Given the description of an element on the screen output the (x, y) to click on. 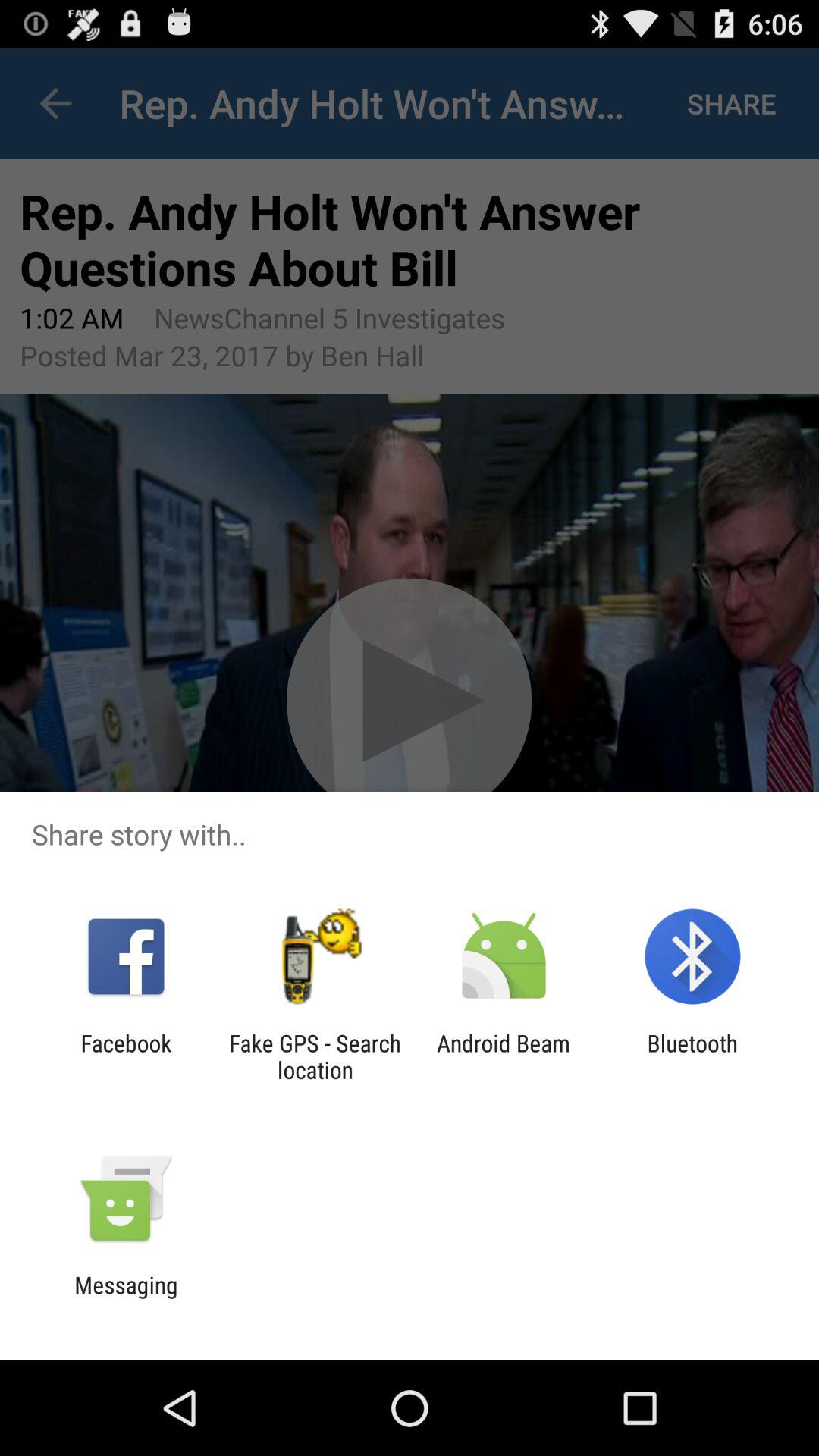
choose bluetooth item (692, 1056)
